Given the description of an element on the screen output the (x, y) to click on. 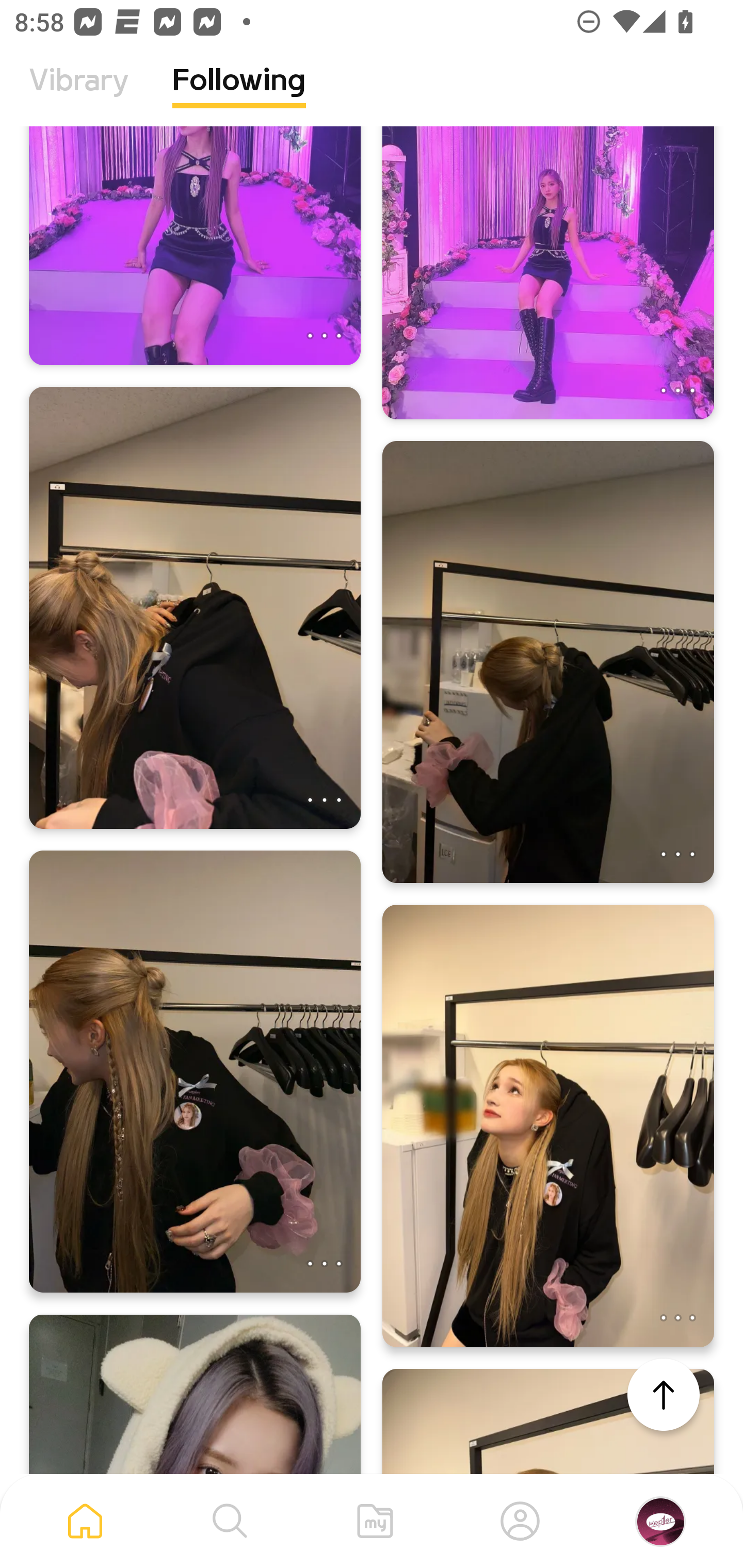
Vibrary (78, 95)
Following (239, 95)
